Given the description of an element on the screen output the (x, y) to click on. 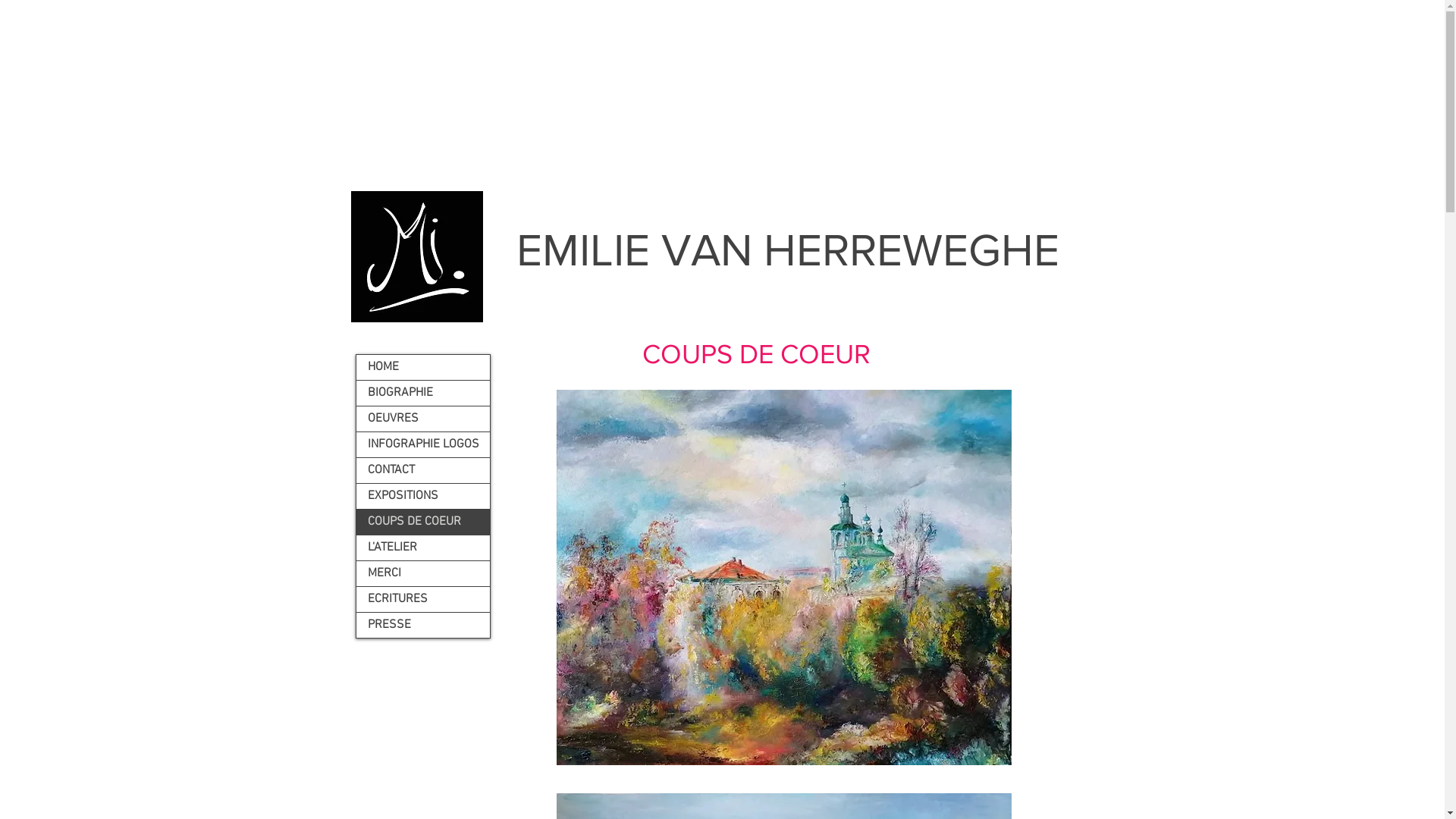
INFOGRAPHIE LOGOS Element type: text (422, 444)
ECRITURES Element type: text (422, 598)
CONTACT Element type: text (422, 470)
OEUVRES Element type: text (422, 418)
HOME Element type: text (422, 366)
EXPOSITIONS Element type: text (422, 495)
COUPS DE COEUR Element type: text (422, 521)
L'ATELIER Element type: text (422, 547)
PRESSE Element type: text (422, 624)
MERCI Element type: text (422, 573)
BIOGRAPHIE Element type: text (422, 392)
